Given the description of an element on the screen output the (x, y) to click on. 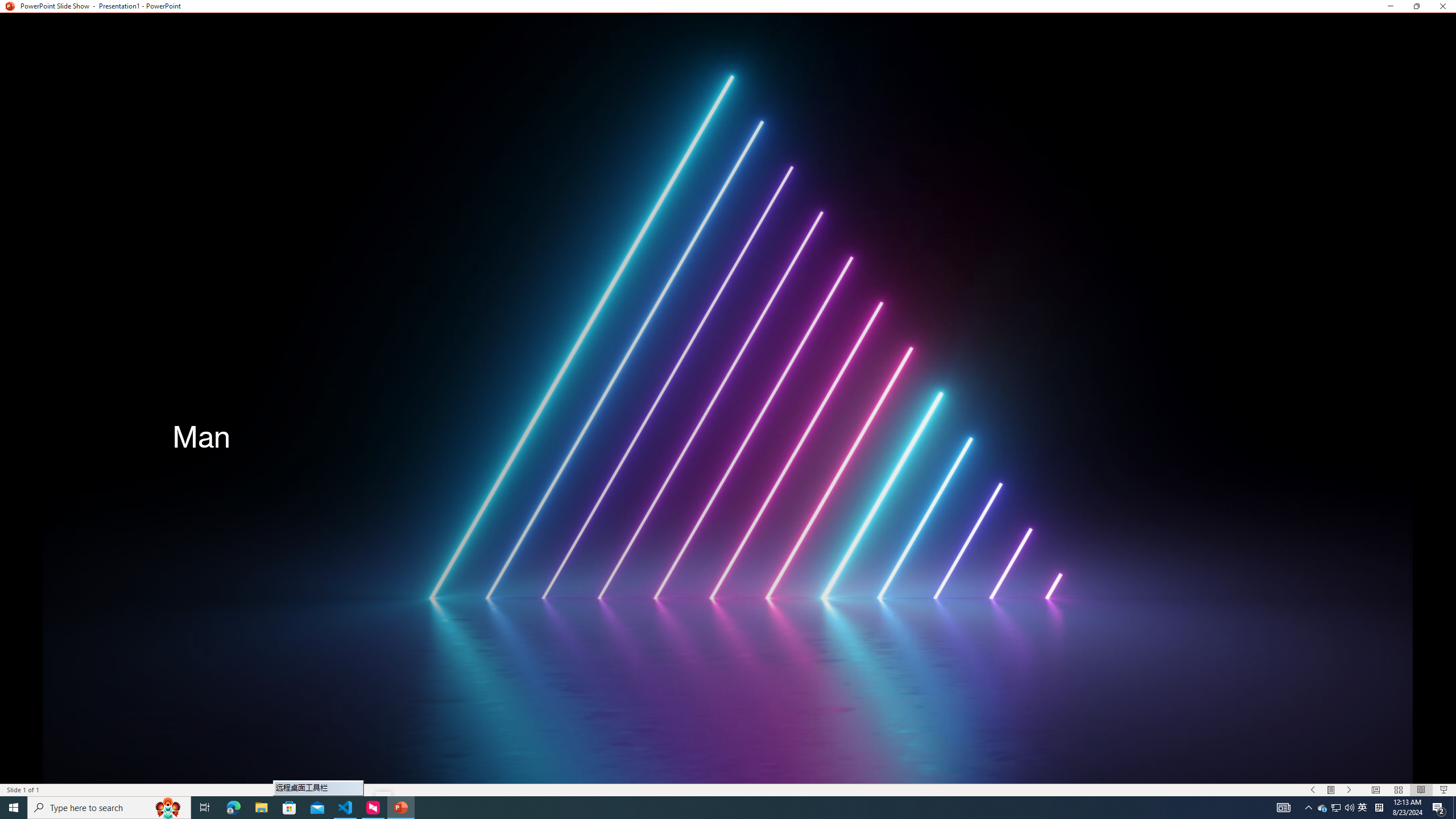
Menu On (1331, 790)
Slide Show Next On (1349, 790)
Slide Show Previous On (1313, 790)
